Given the description of an element on the screen output the (x, y) to click on. 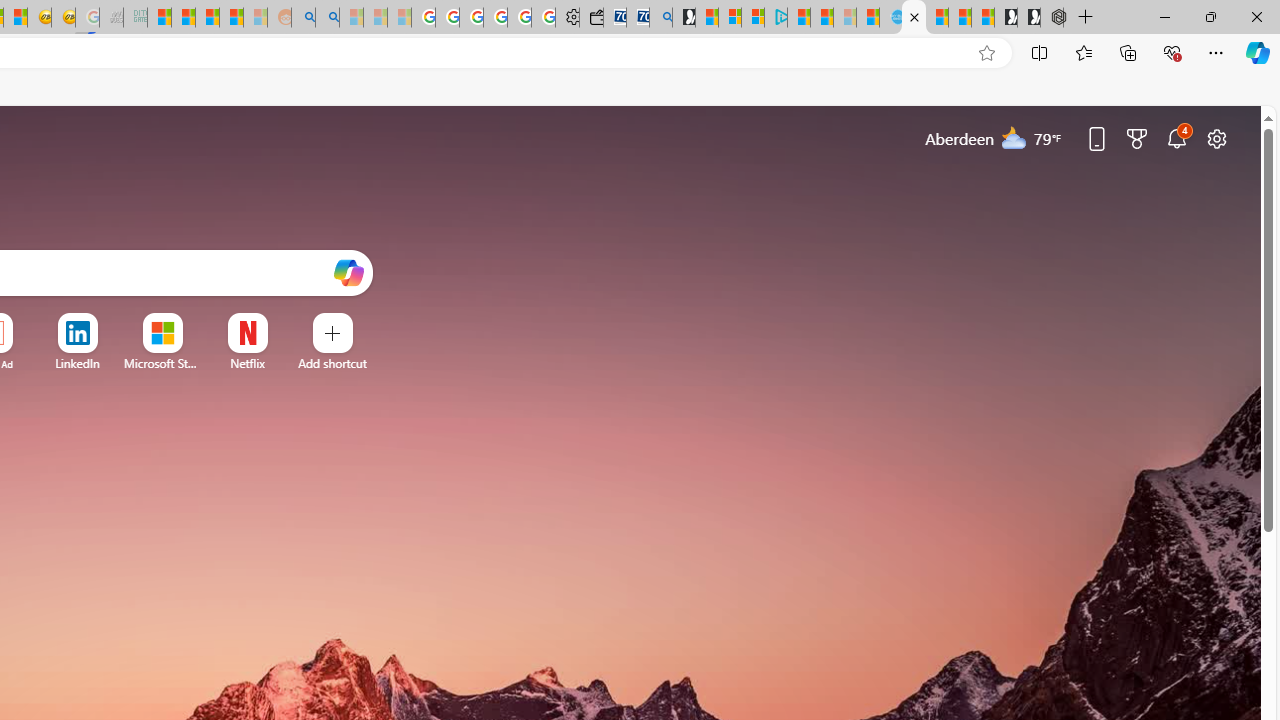
Utah sues federal government - Search (327, 17)
Mostly cloudy (1014, 137)
Wallet (590, 17)
